Given the description of an element on the screen output the (x, y) to click on. 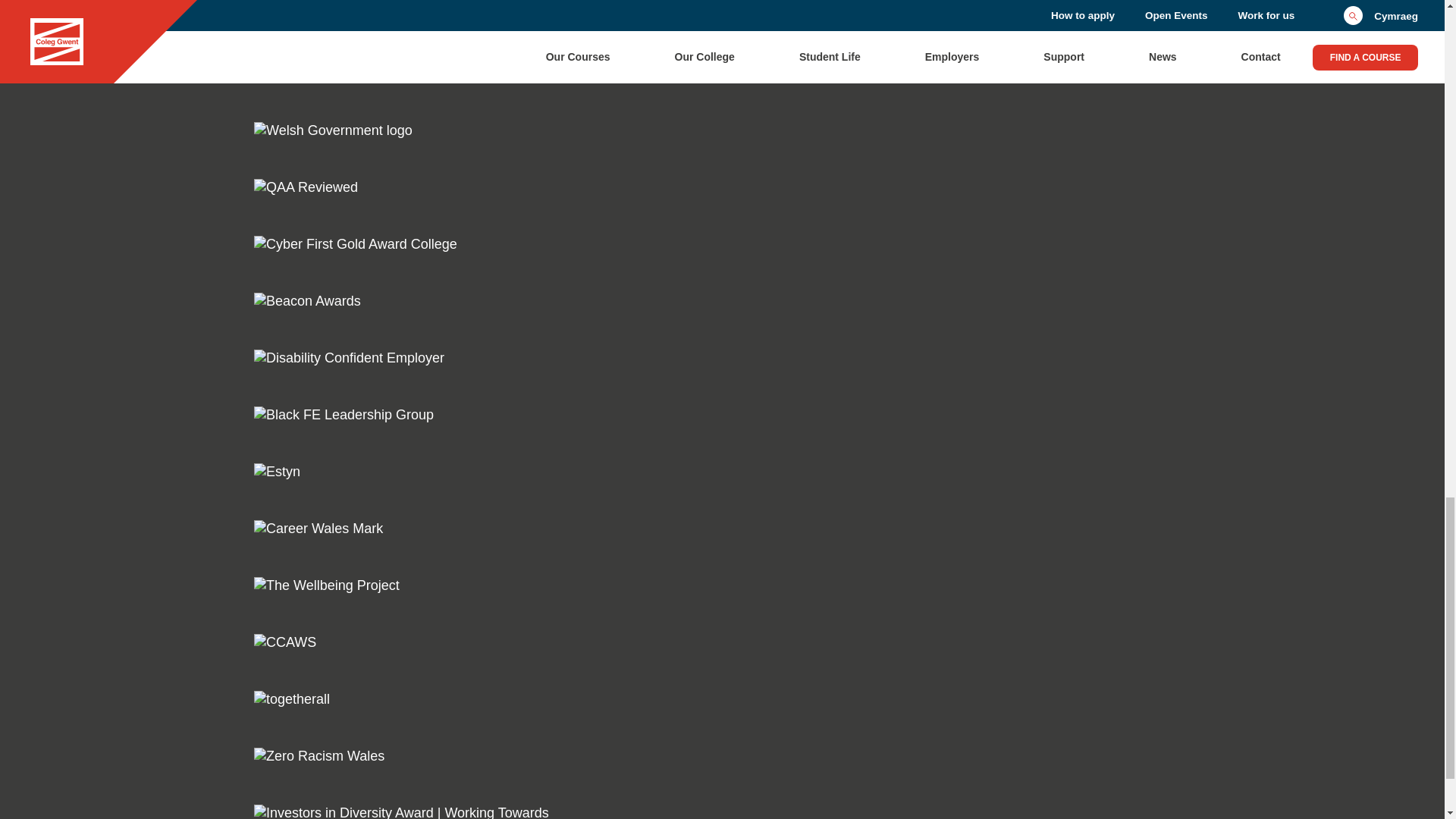
Find us on Facebook (263, 0)
